Given the description of an element on the screen output the (x, y) to click on. 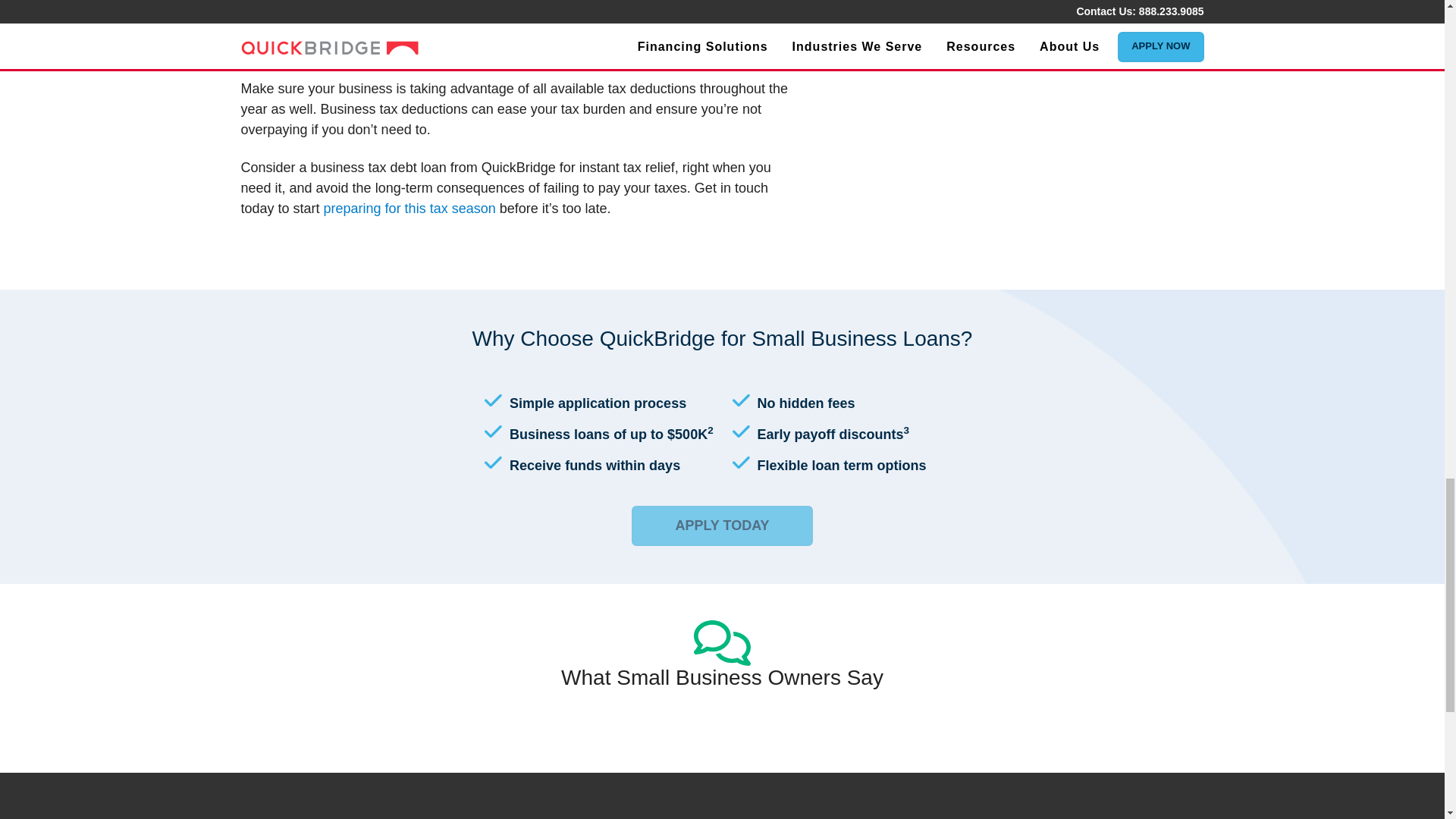
APPLY TODAY (721, 526)
APPLY TODAY (721, 525)
preparing for this tax season (409, 208)
